Given the description of an element on the screen output the (x, y) to click on. 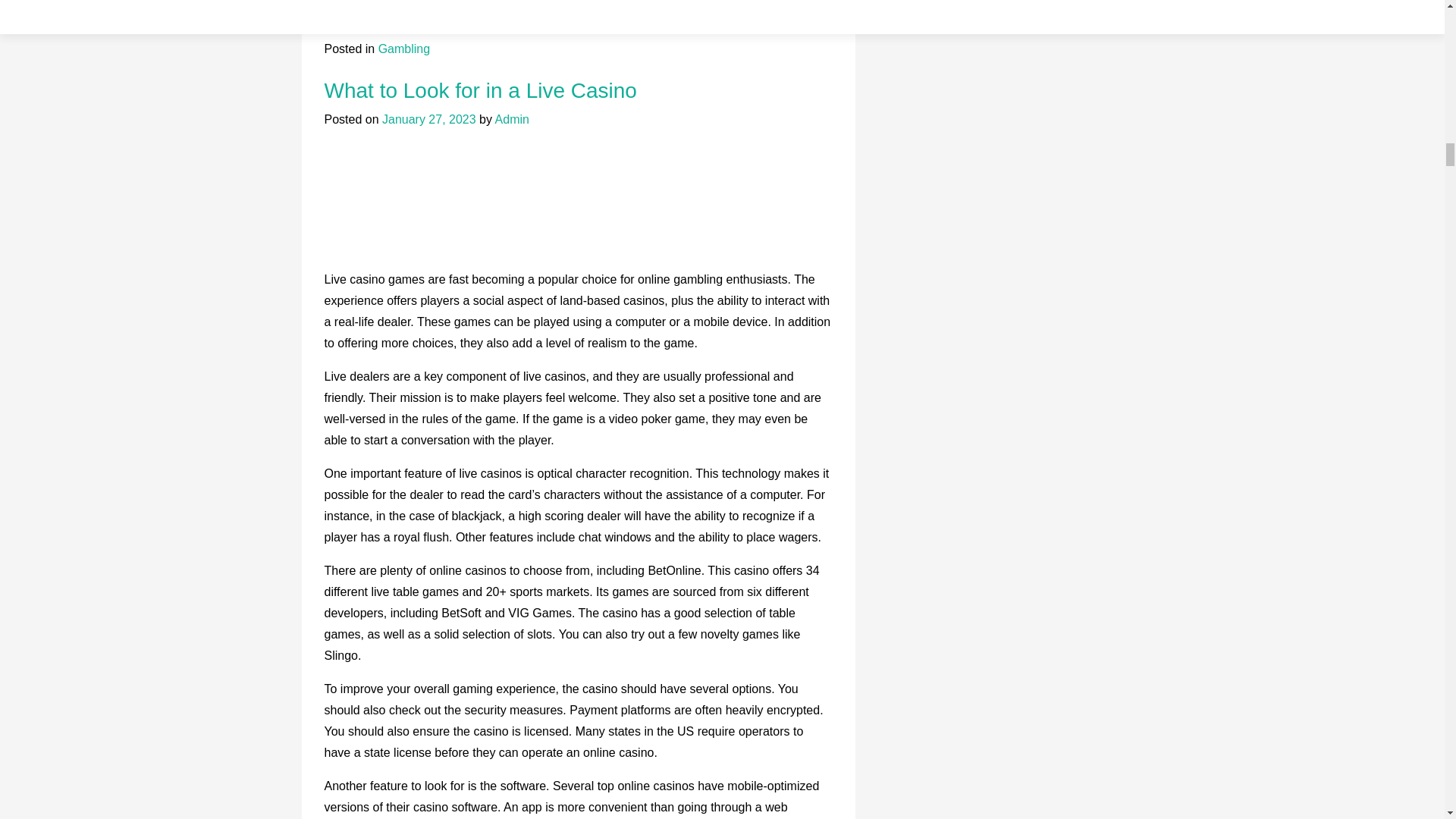
January 27, 2023 (428, 119)
Gambling (403, 48)
What to Look for in a Live Casino (480, 90)
Admin (512, 119)
